Given the description of an element on the screen output the (x, y) to click on. 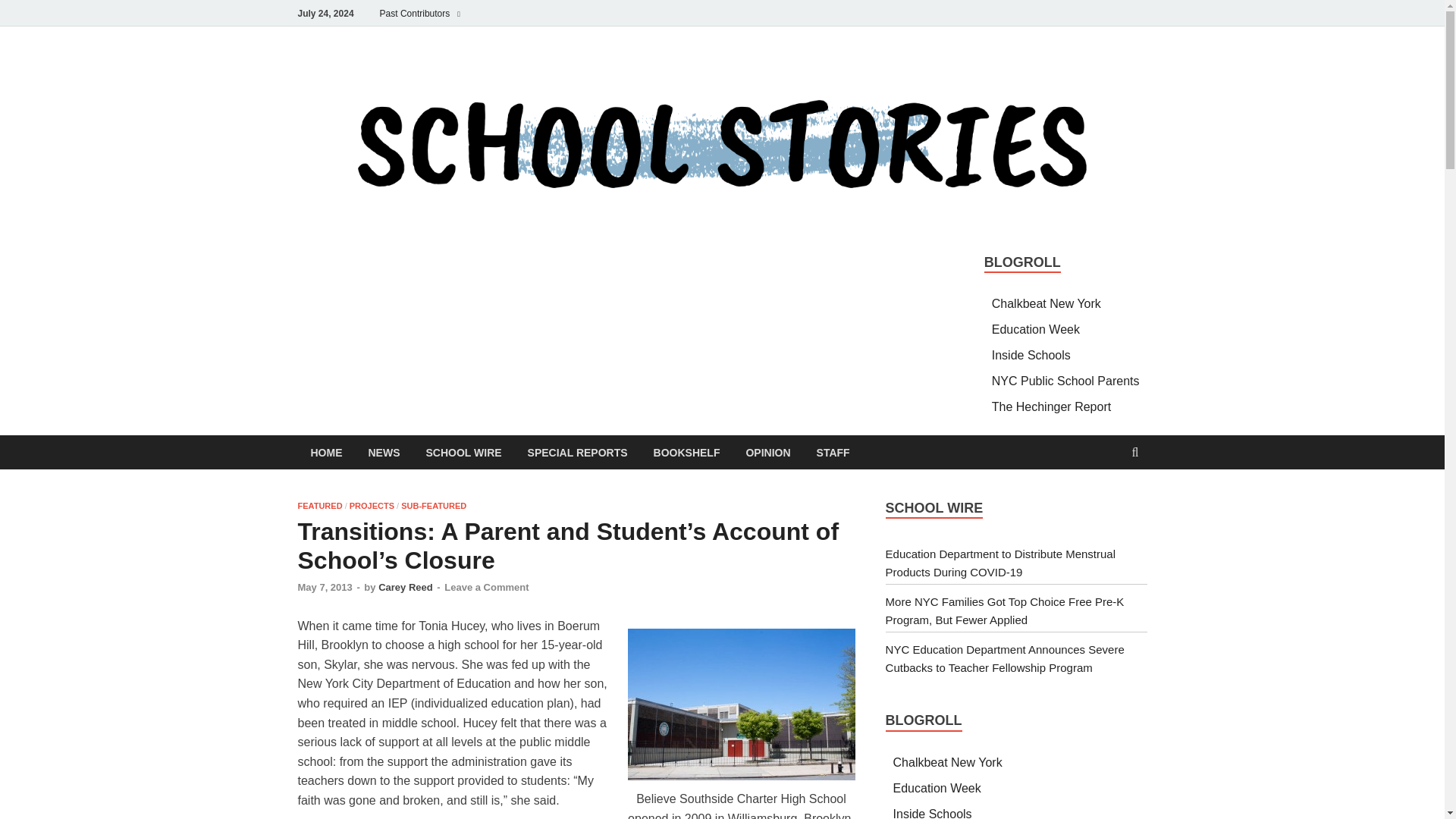
BOOKSHELF (686, 451)
SPECIAL REPORTS (577, 451)
SCHOOL WIRE (462, 451)
School Stories (404, 230)
PROJECTS (371, 505)
Inside Schools (1030, 354)
SUB-FEATURED (433, 505)
Education Week (1035, 328)
STAFF (833, 451)
HOME (326, 451)
NEWS (383, 451)
OPINION (767, 451)
Believe Southside Charter High School (741, 704)
Past Contributors (419, 13)
NYC Public School Parents (1065, 380)
